Given the description of an element on the screen output the (x, y) to click on. 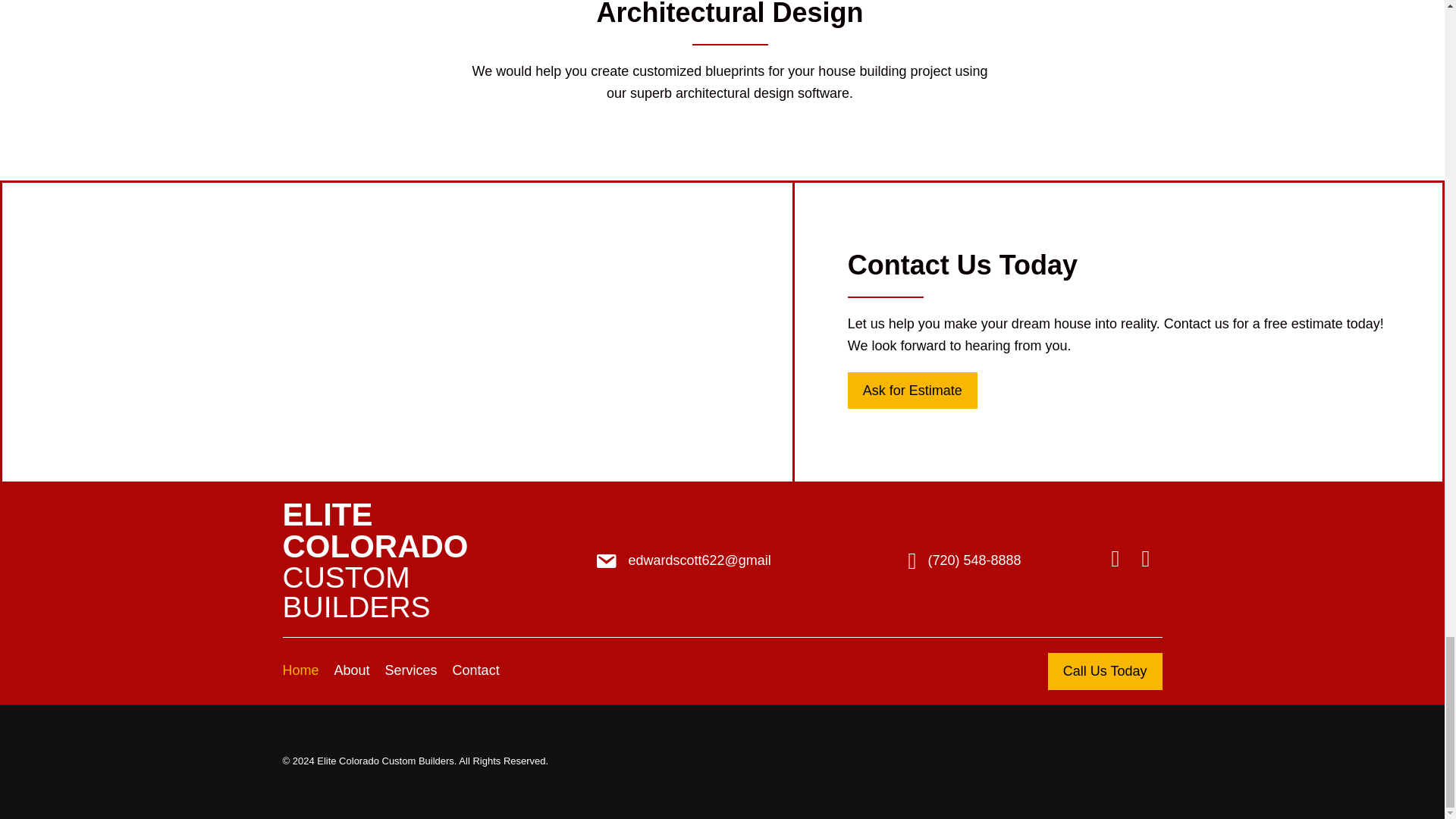
Ask for Estimate (422, 559)
Home (911, 390)
